Given the description of an element on the screen output the (x, y) to click on. 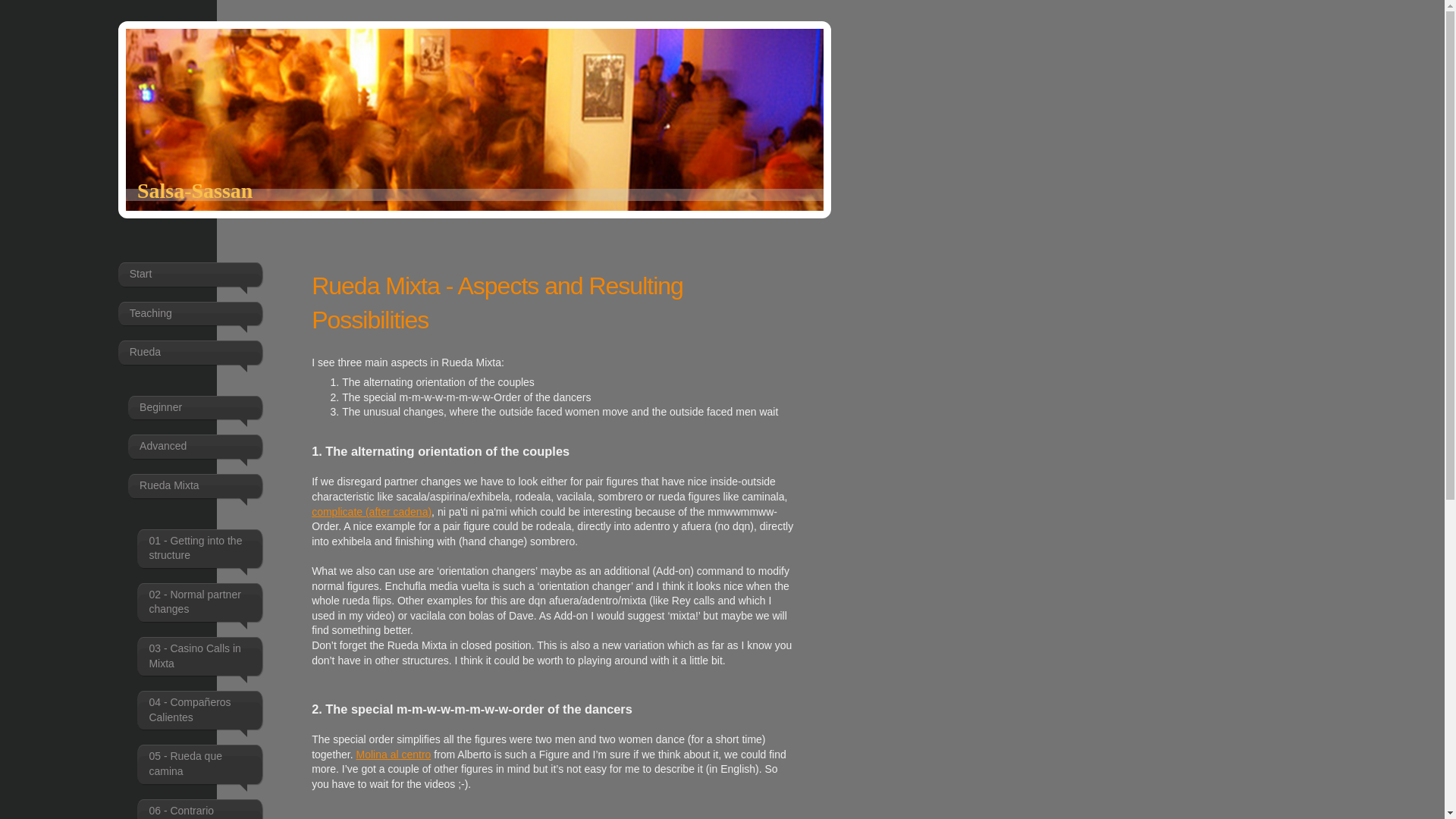
Salsa-Sassan (194, 190)
